Given the description of an element on the screen output the (x, y) to click on. 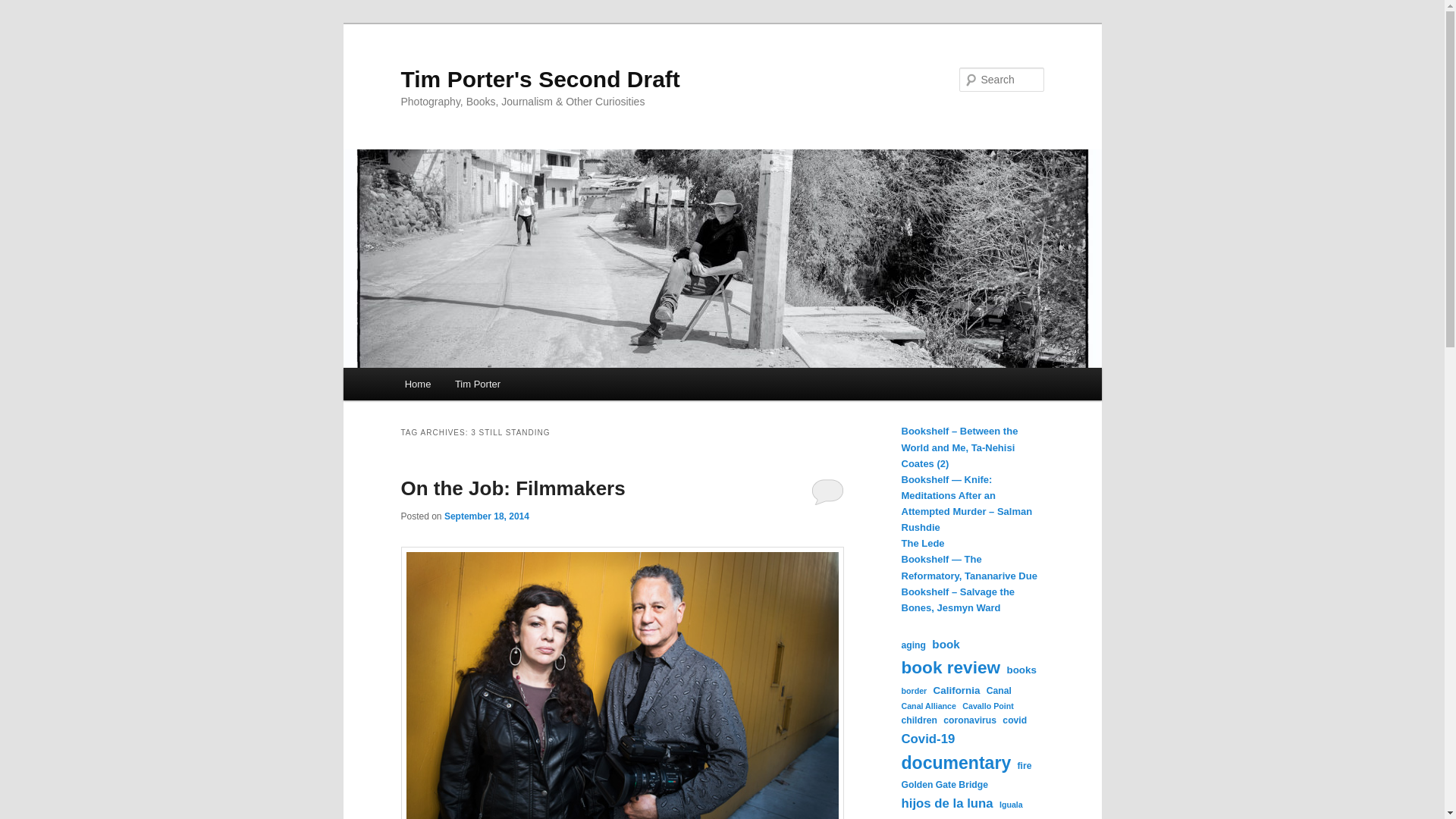
children (918, 720)
The Lede (922, 542)
Tim Porter's Second Draft (539, 78)
aging (913, 645)
Home (417, 383)
California (956, 690)
On the Job: Filmmakers (512, 487)
book (945, 644)
books (1020, 669)
coronavirus (969, 720)
Canal (999, 691)
Search (24, 8)
Tim Porter (477, 383)
September 18, 2014 (486, 516)
10:33 am (486, 516)
